Given the description of an element on the screen output the (x, y) to click on. 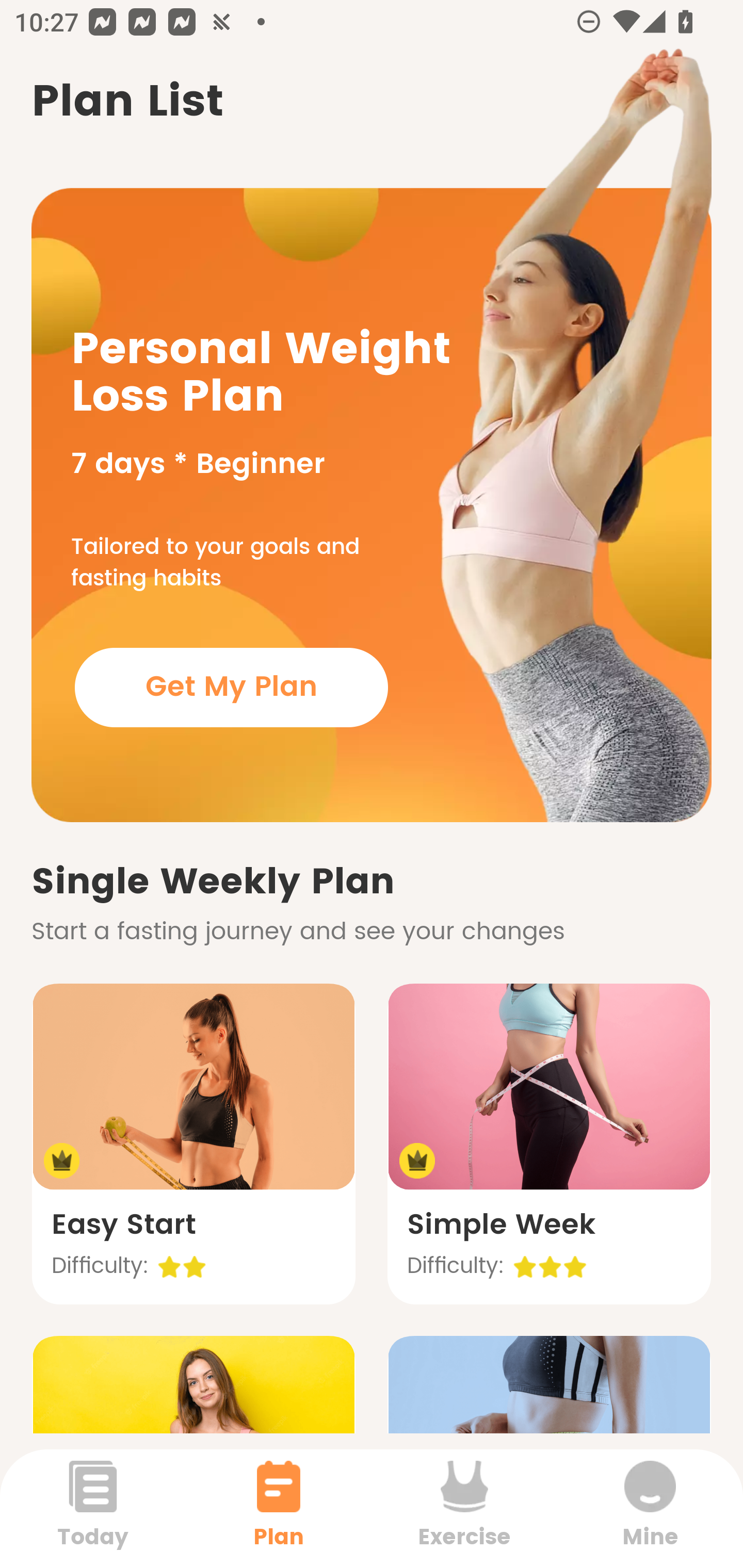
Get My Plan (231, 687)
Easy Start Difficulty: 2.0 (193, 1143)
Simple Week Difficulty: 3.0 (549, 1143)
Today (92, 1508)
Exercise (464, 1508)
Mine (650, 1508)
